Given the description of an element on the screen output the (x, y) to click on. 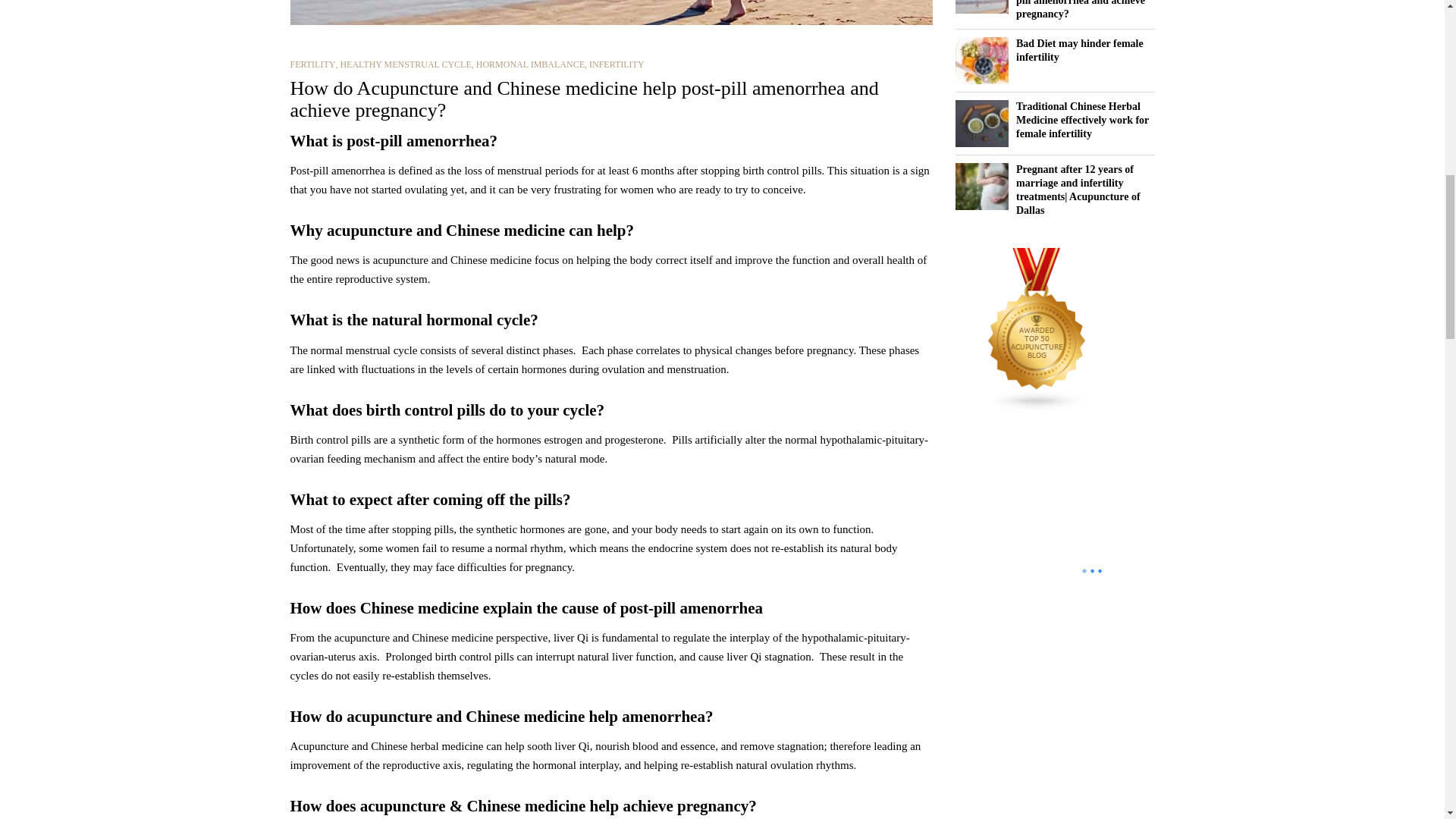
FERTILITY (311, 63)
HORMONAL IMBALANCE (530, 63)
HEALTHY MENSTRUAL CYCLE (404, 63)
Acupuncture Blogs (1037, 328)
INFERTILITY (617, 63)
